Given the description of an element on the screen output the (x, y) to click on. 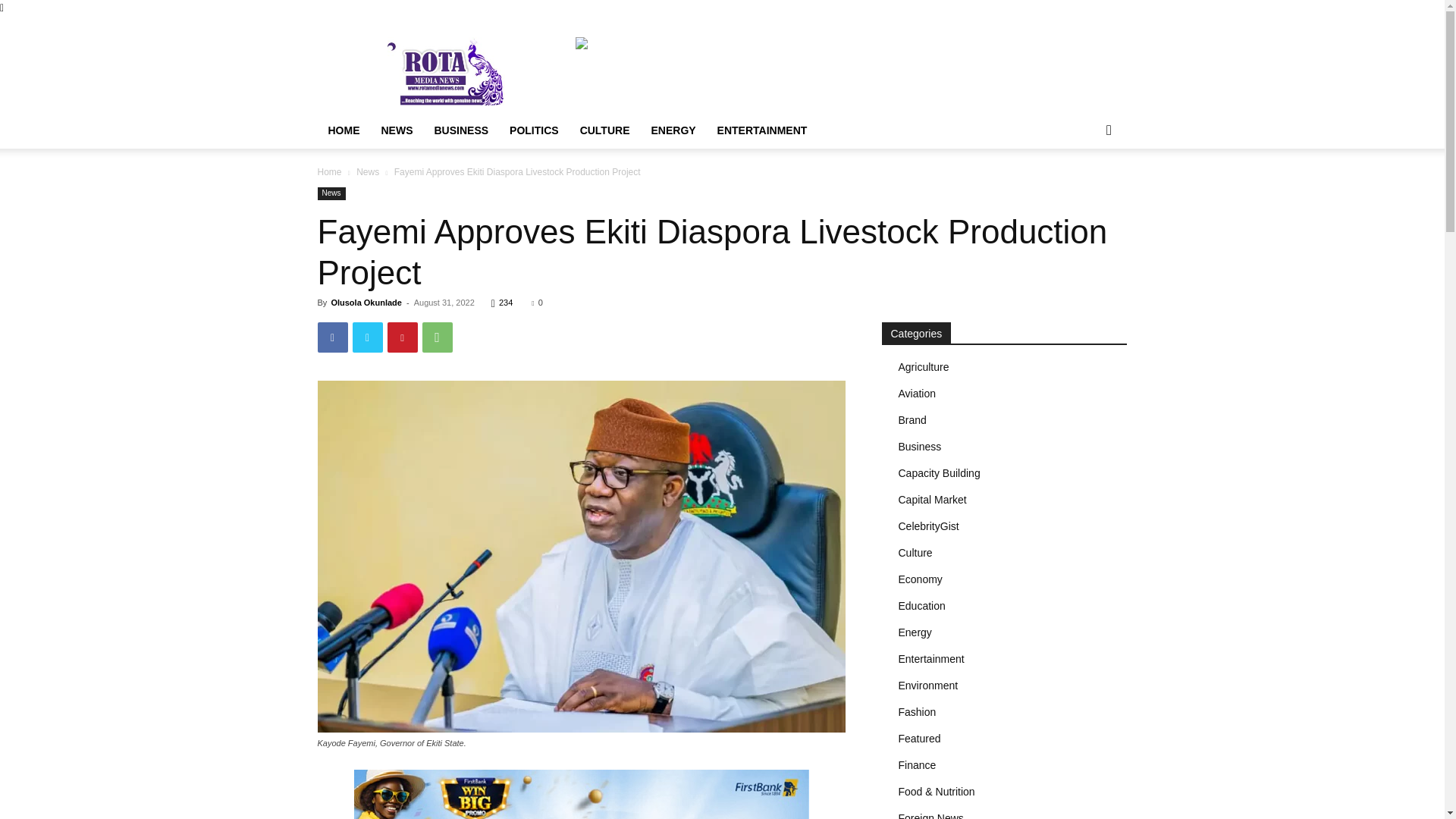
POLITICS (534, 130)
ENTERTAINMENT (762, 130)
BUSINESS (461, 130)
ENERGY (673, 130)
Home (328, 172)
WhatsApp (436, 337)
NEWS (396, 130)
CULTURE (604, 130)
View all posts in News (367, 172)
Olusola Okunlade (365, 302)
Search (1085, 191)
HOME (343, 130)
News (367, 172)
Pinterest (401, 337)
